Given the description of an element on the screen output the (x, y) to click on. 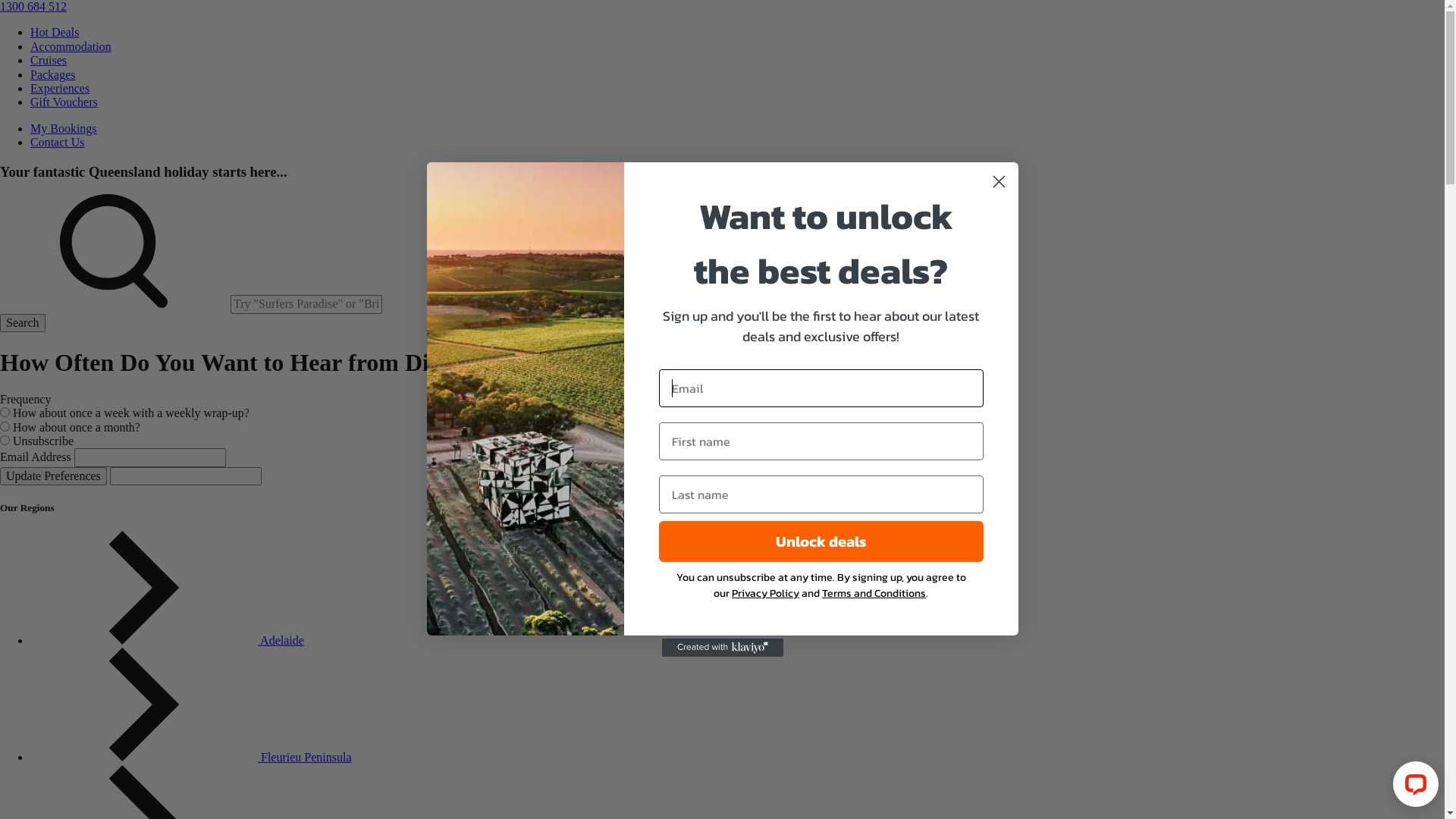
My Bookings Element type: text (63, 128)
Search Element type: text (22, 322)
Experiences Element type: text (59, 87)
Unlock deals Element type: text (820, 540)
Terms and Conditions Element type: text (873, 593)
Fleurieu Peninsula Element type: text (190, 756)
Adelaide Element type: text (167, 639)
Gift Vouchers Element type: text (63, 101)
Contact Us Element type: text (57, 141)
Hot Deals Element type: text (54, 31)
Packages Element type: text (52, 74)
Accommodation Element type: text (70, 46)
Close dialog 1 Element type: text (998, 181)
Cruises Element type: text (48, 59)
Submit Element type: text (23, 9)
Update Preferences Element type: text (53, 476)
Privacy Policy Element type: text (765, 593)
1300 684 512 Element type: text (33, 6)
